Given the description of an element on the screen output the (x, y) to click on. 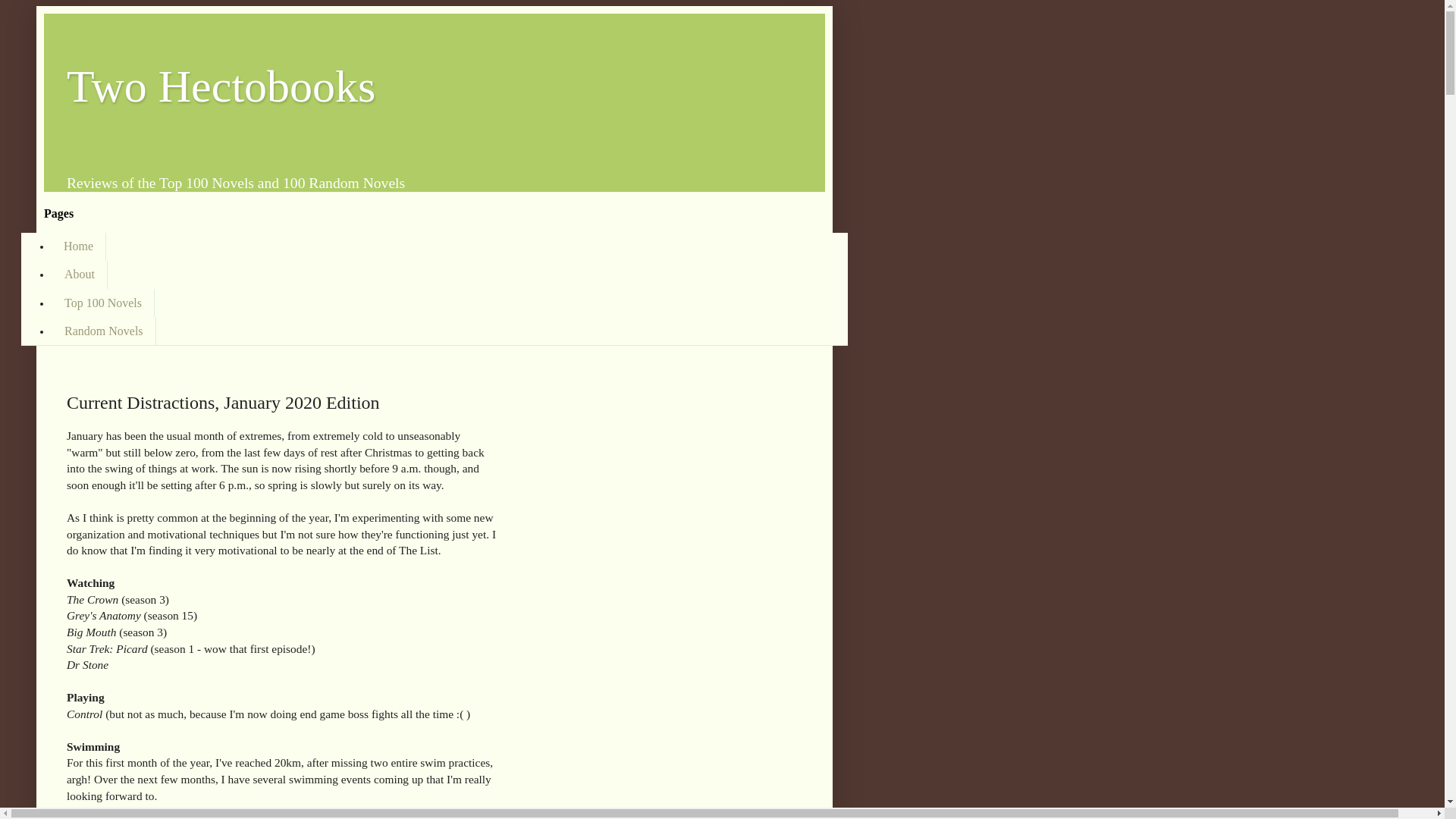
Top 100 Novels (102, 302)
About (78, 275)
Two Hectobooks (220, 86)
Random Novels (102, 330)
Home (78, 246)
